Given the description of an element on the screen output the (x, y) to click on. 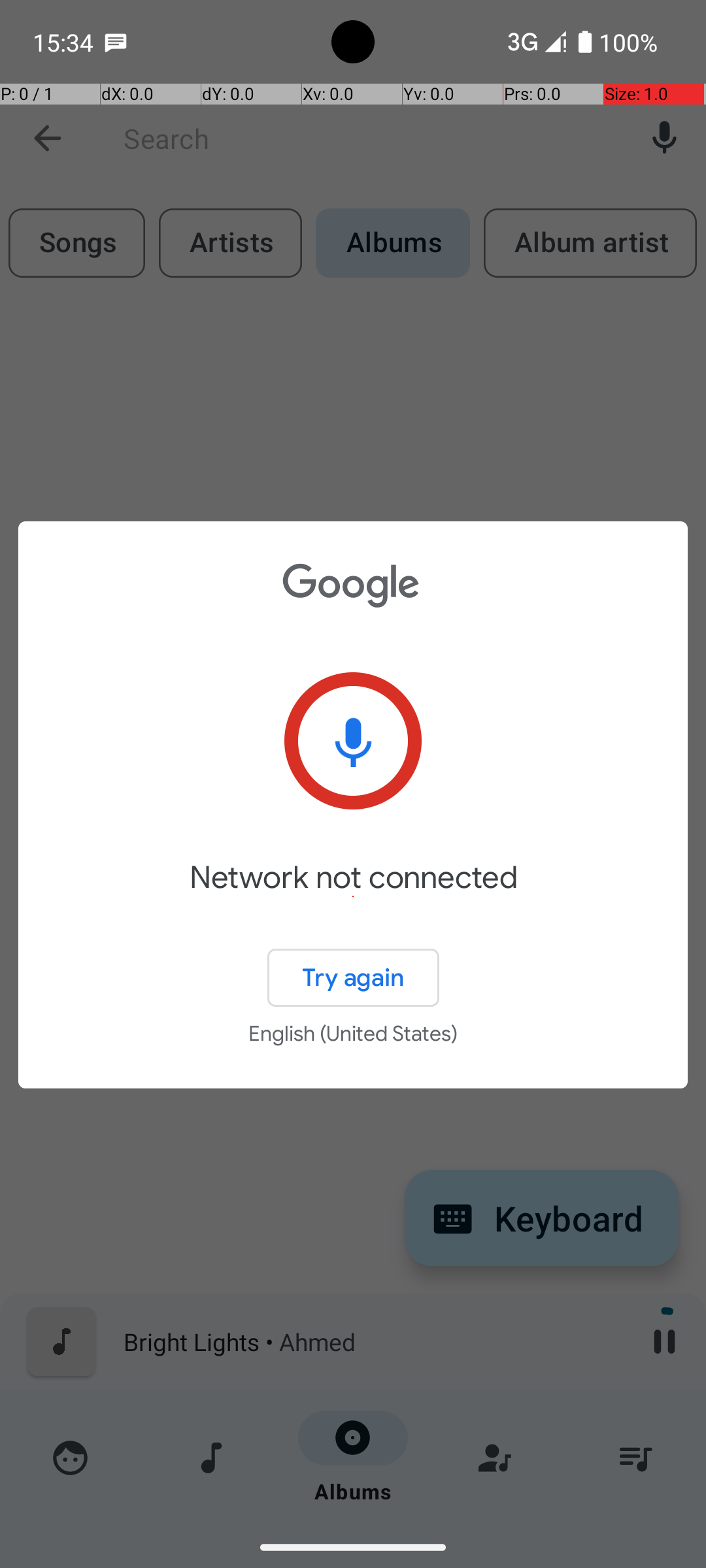
Network not connected Element type: android.widget.TextView (352, 895)
Try again Element type: android.widget.Button (353, 977)
